Given the description of an element on the screen output the (x, y) to click on. 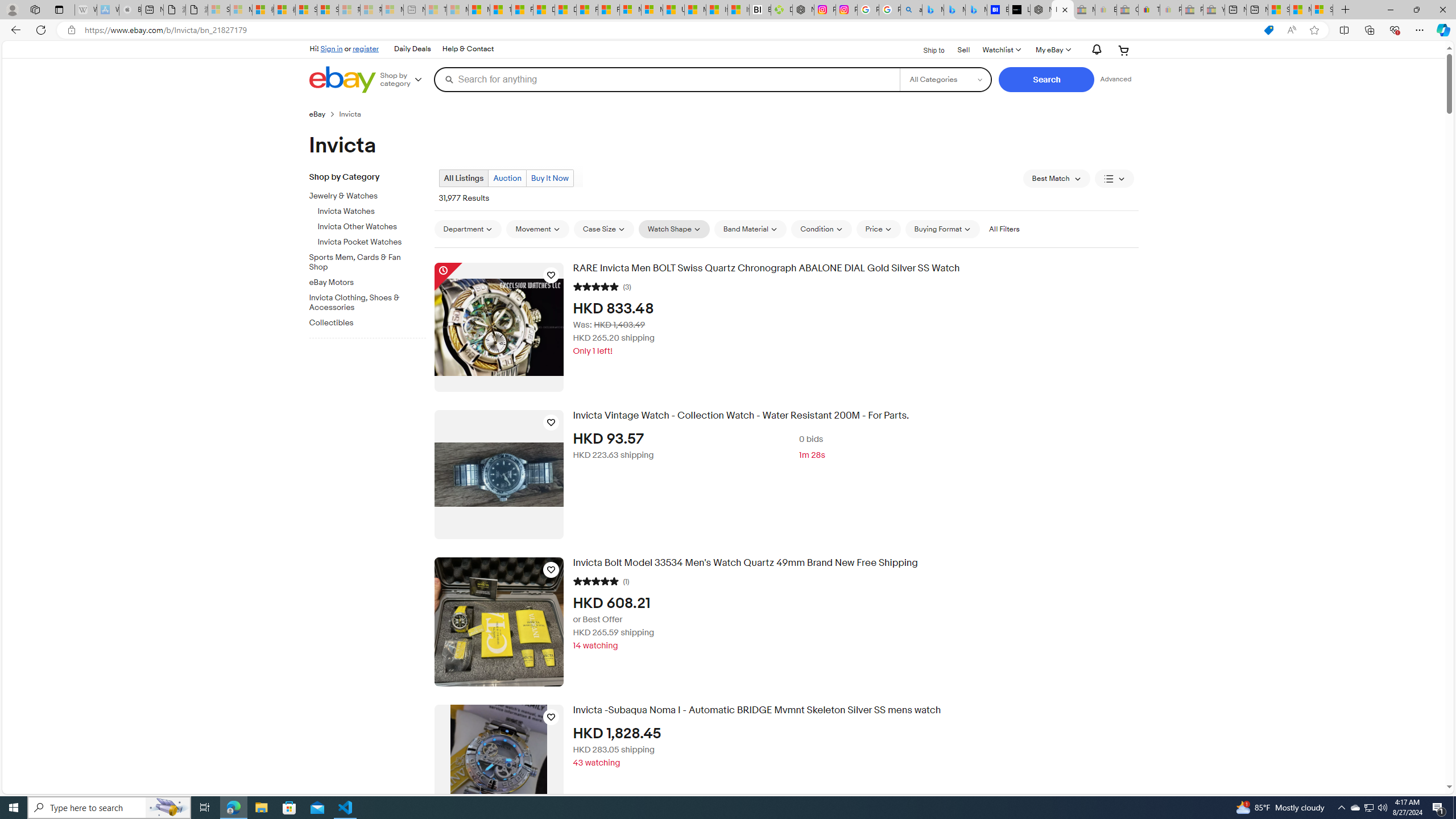
Ship to (926, 50)
Sell (963, 49)
Auction (507, 178)
Nordace - Nordace Edin Collection (802, 9)
Buying Format (941, 229)
Invicta Other Watches (371, 226)
eBay (317, 113)
Shop by category (405, 79)
